Given the description of an element on the screen output the (x, y) to click on. 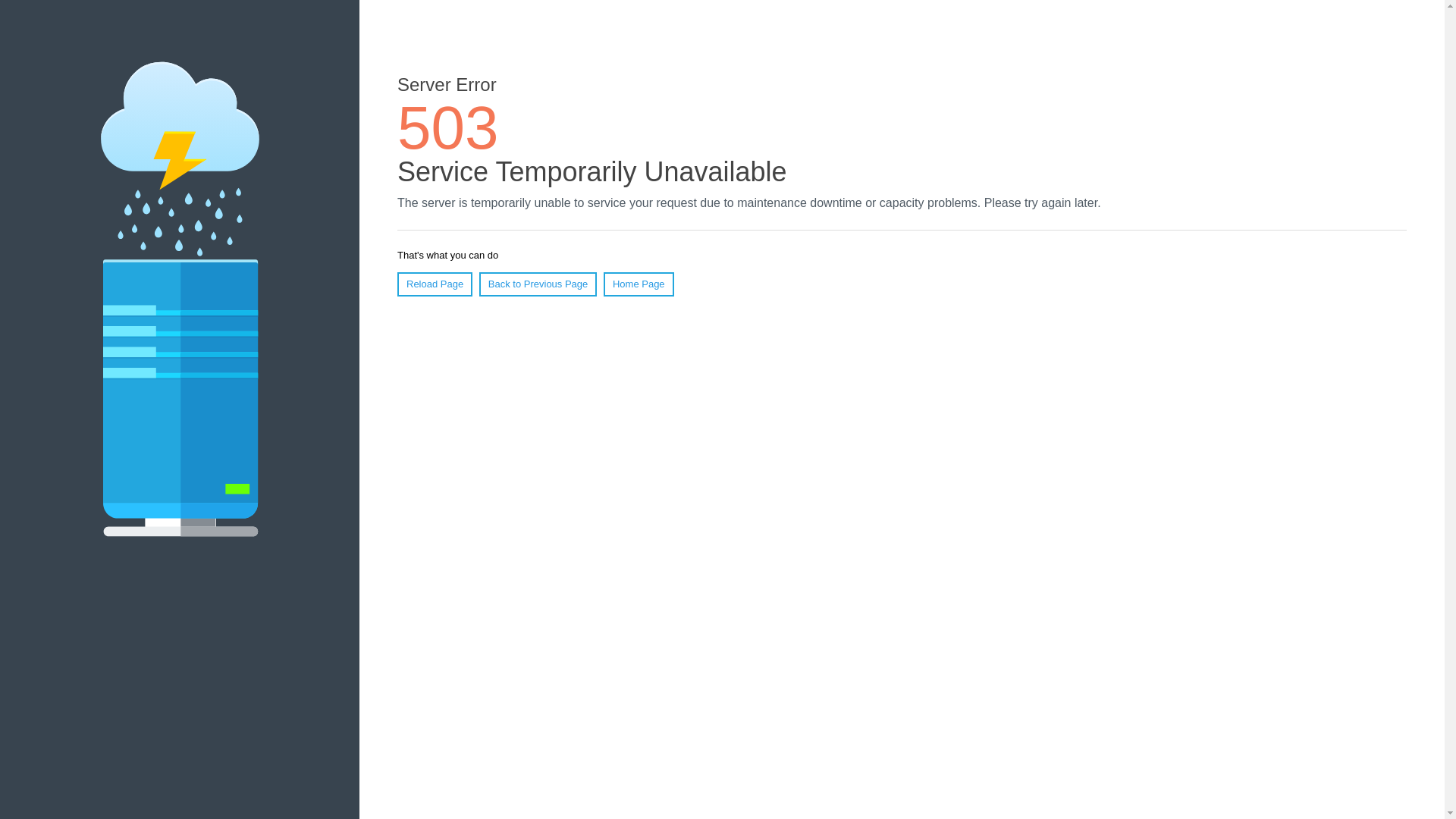
Reload Page Element type: text (434, 284)
Home Page Element type: text (638, 284)
Back to Previous Page Element type: text (538, 284)
